Given the description of an element on the screen output the (x, y) to click on. 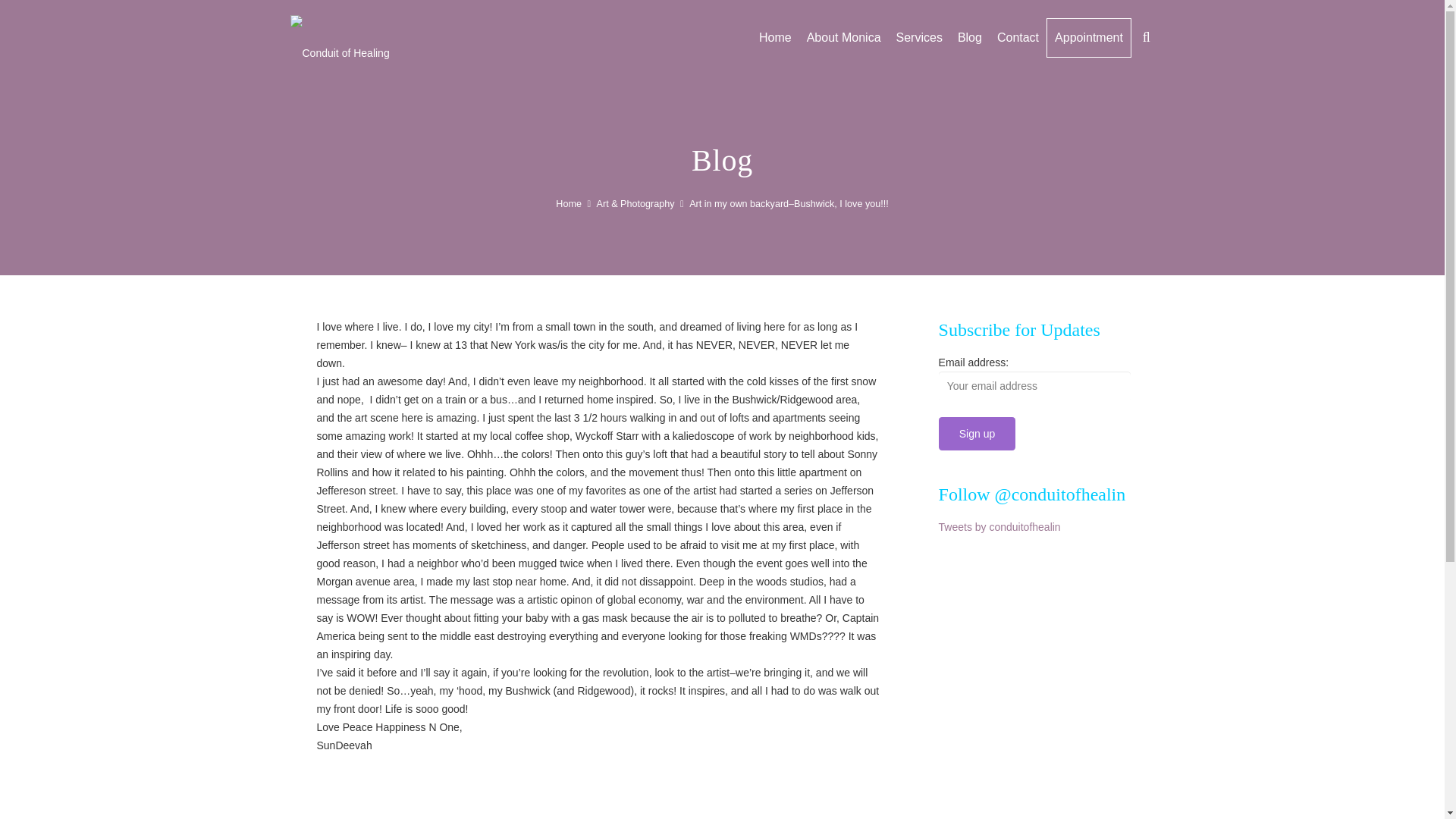
Contact (1018, 37)
Appointment (1088, 37)
Tweets by conduitofhealin (1000, 526)
About Monica (843, 37)
Blog (970, 37)
Services (919, 37)
Sign up (977, 432)
Home (568, 204)
Sign up (977, 432)
Home (775, 37)
